Given the description of an element on the screen output the (x, y) to click on. 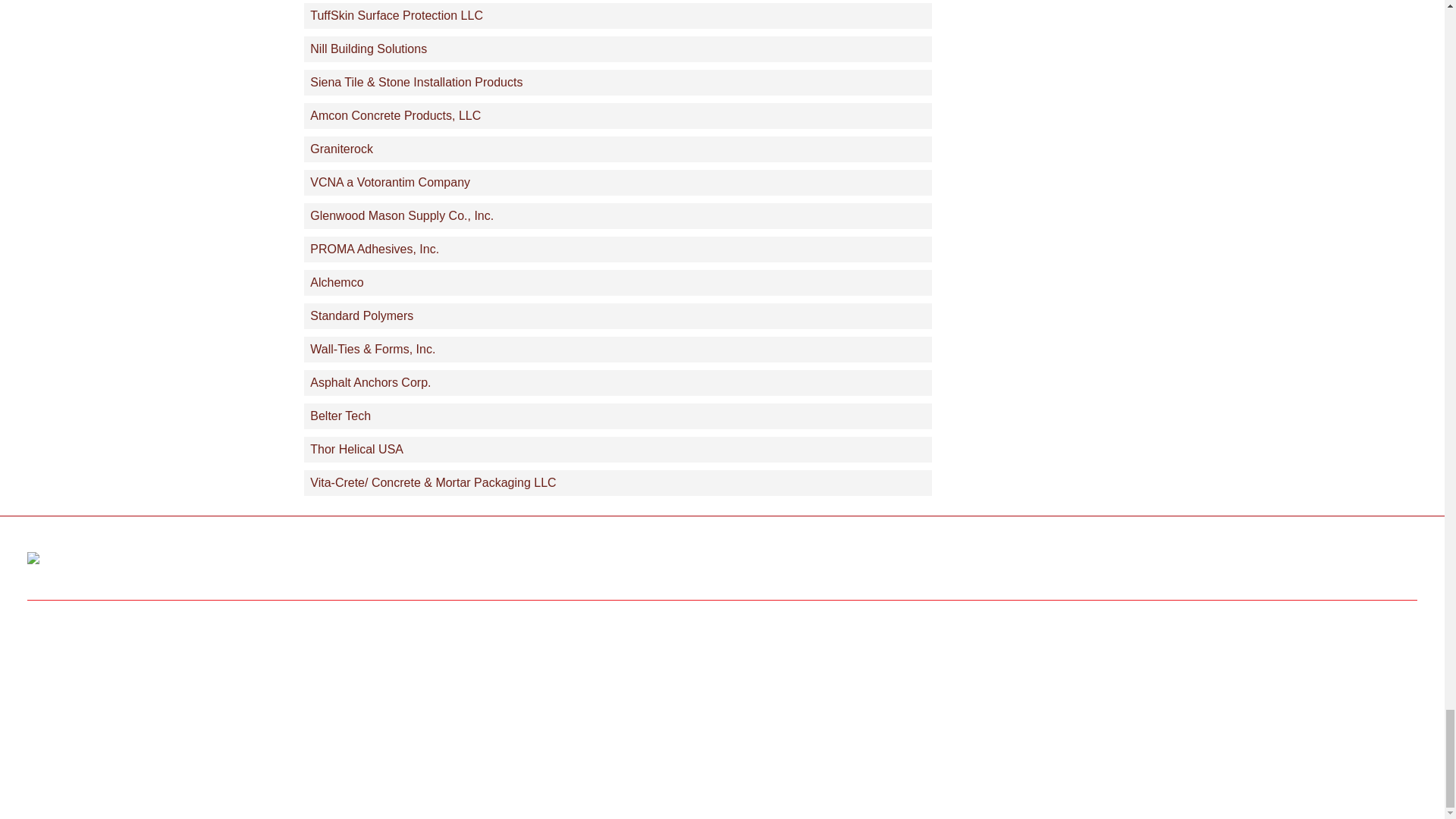
YouTube (1289, 562)
LinkedIn (1398, 562)
Pinterest (1344, 562)
Facebook (1179, 562)
Twitter (1235, 562)
